Given the description of an element on the screen output the (x, y) to click on. 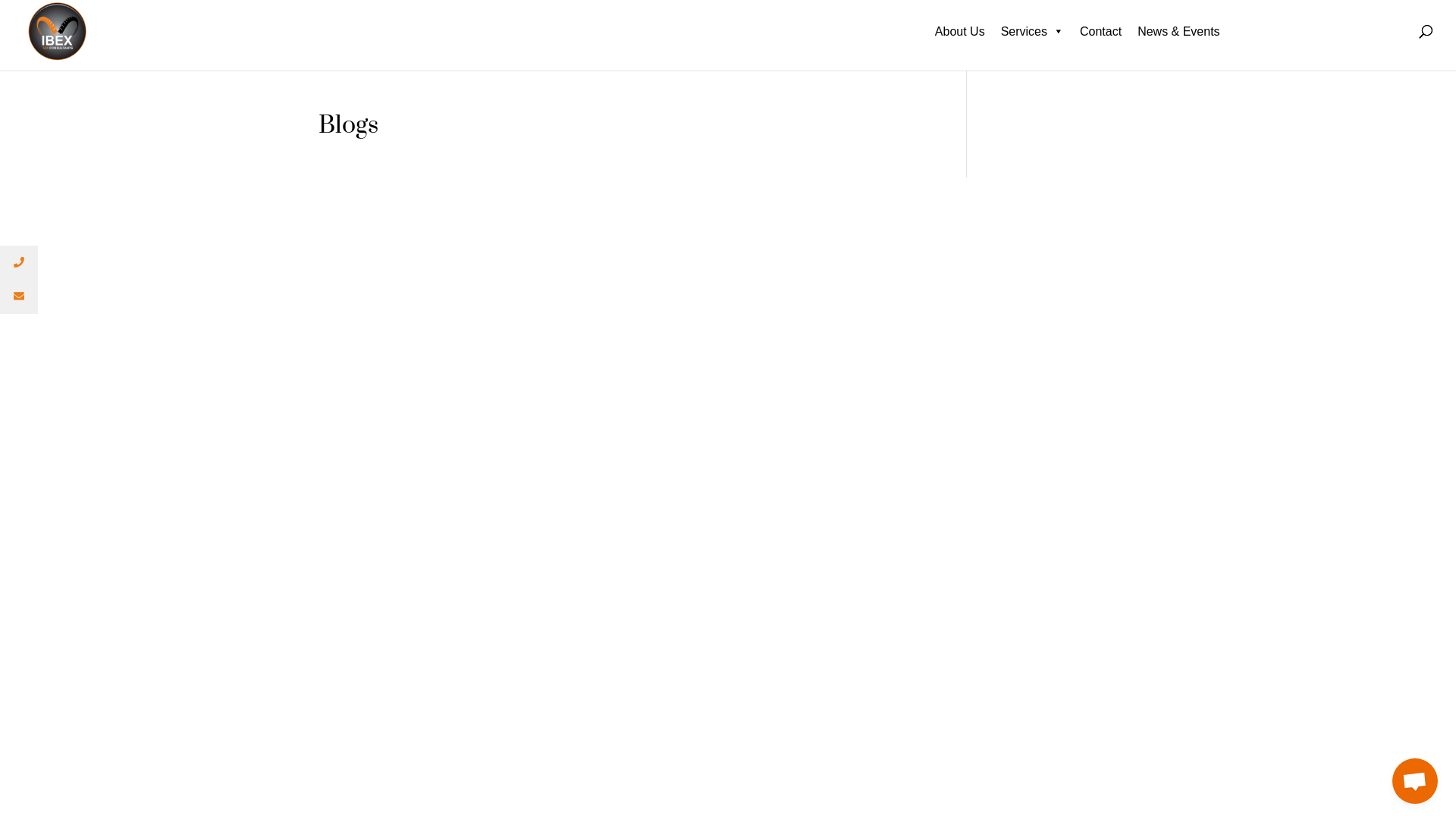
Services Element type: text (1032, 43)
Contact Element type: text (1100, 43)
About Us Element type: text (959, 43)
News & Events Element type: text (1177, 43)
